Given the description of an element on the screen output the (x, y) to click on. 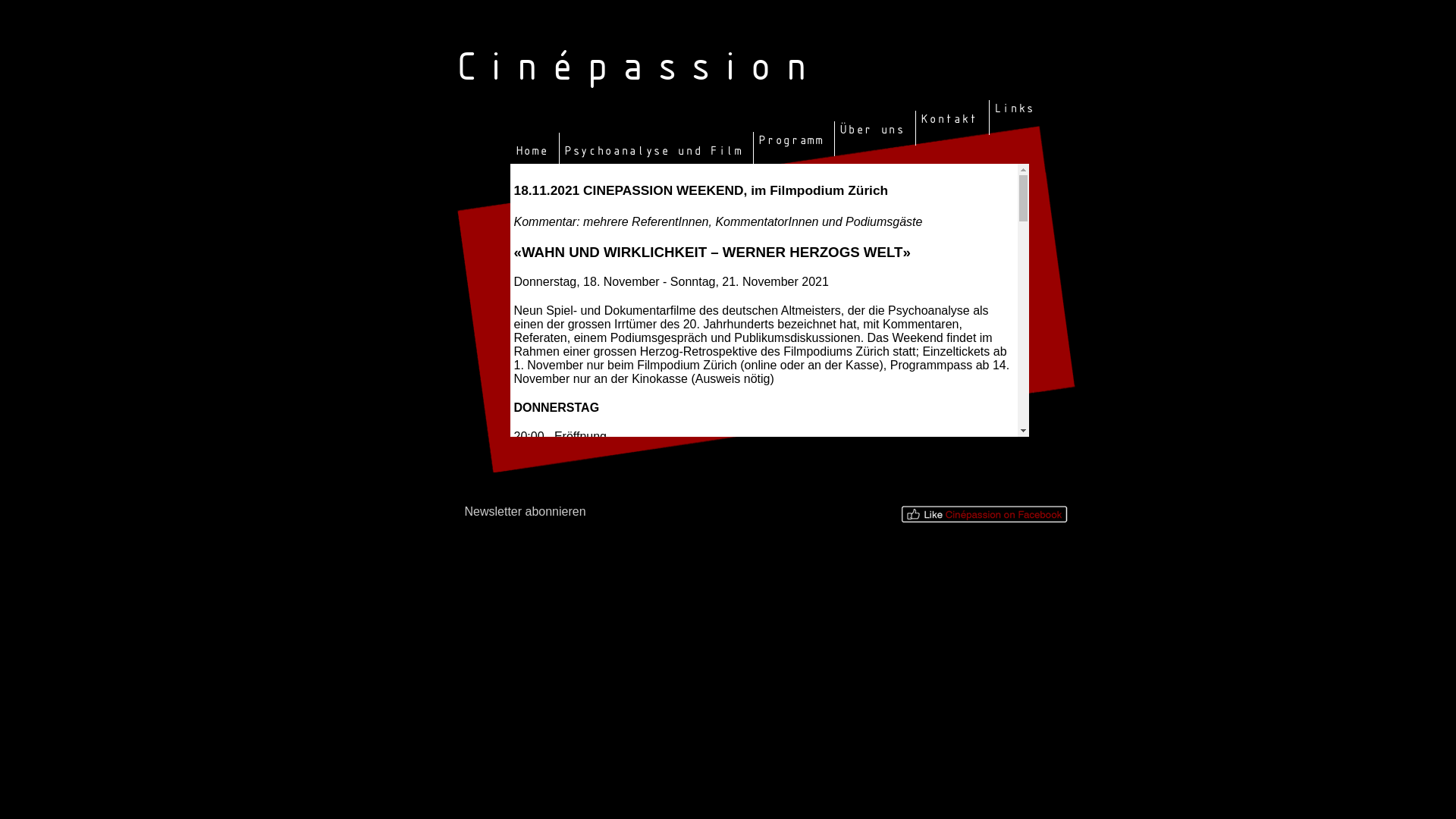
Home Element type: text (530, 151)
AUCH ZWERGE HABEN KLEIN ANGEFANGEN Element type: text (684, 636)
Psychoanalyse und Film Element type: text (652, 151)
STROSZEK Element type: text (586, 736)
Links Element type: text (1013, 108)
Programm Element type: text (789, 140)
Kontakt Element type: text (947, 119)
Newsletter abonnieren Element type: text (524, 511)
DIE GROSSE EKSTASE DES BILDSCHNITZERS STEINER Element type: text (717, 478)
